Given the description of an element on the screen output the (x, y) to click on. 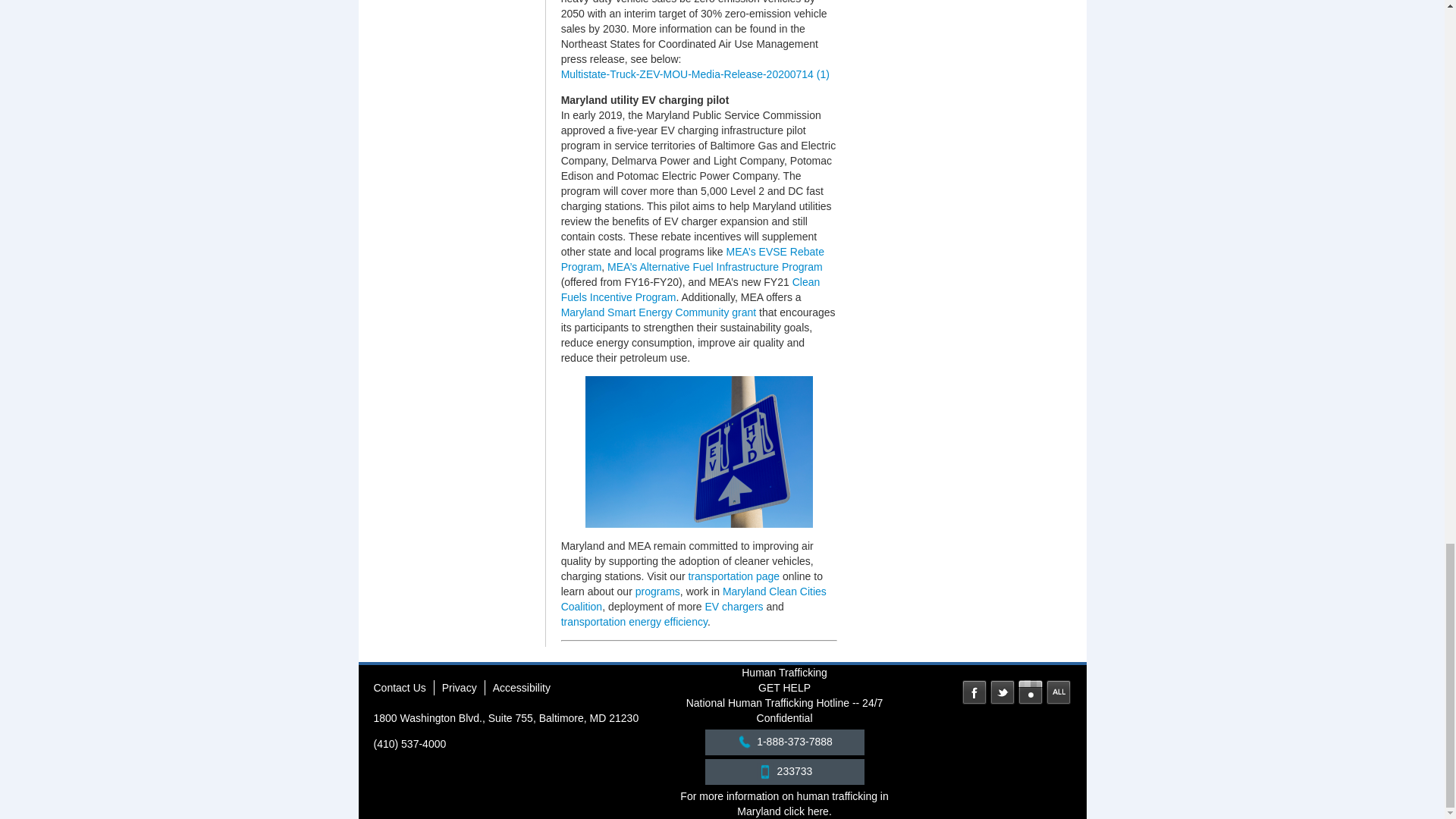
Maryland Smart Energy Community grant (658, 312)
Twitter (1002, 692)
Instagram (1029, 692)
MD Social Media Directory (1058, 692)
Facebook (974, 692)
Clean Fuels Incentive Program (690, 289)
